Given the description of an element on the screen output the (x, y) to click on. 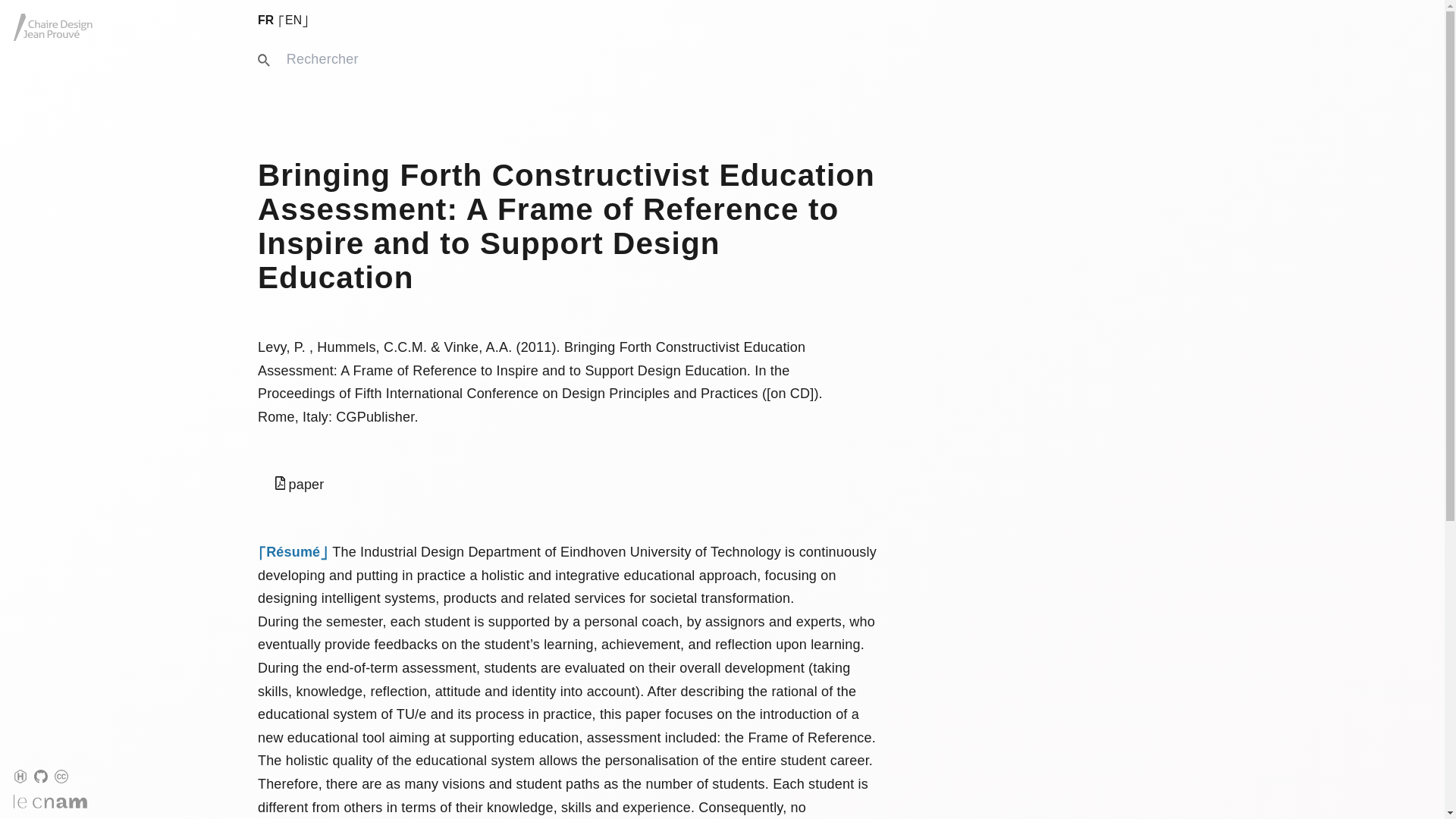
English (294, 19)
paper (298, 484)
